Given the description of an element on the screen output the (x, y) to click on. 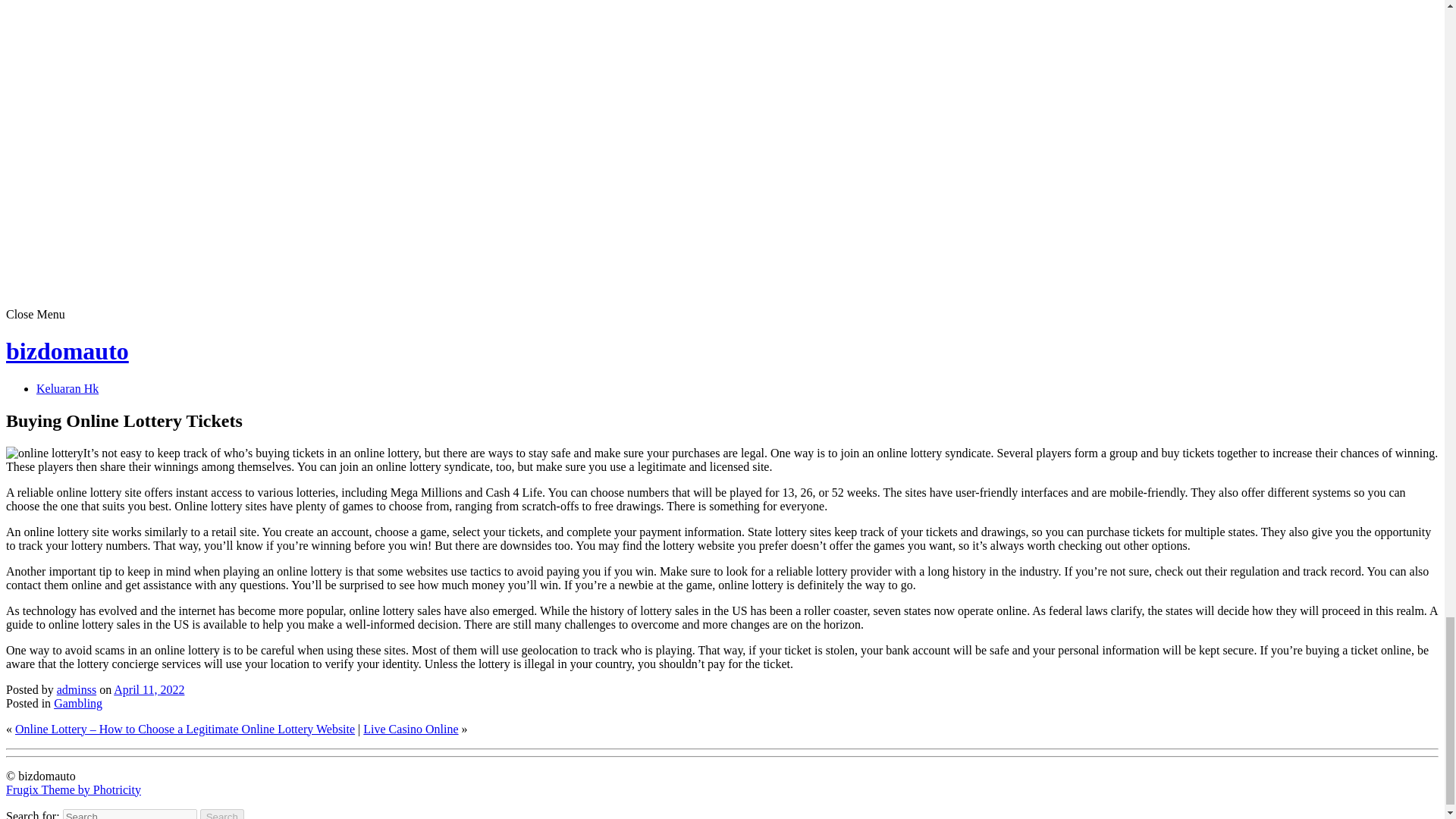
adminss (76, 689)
April 11, 2022 (148, 689)
Gambling (77, 703)
Keluaran Hk (67, 388)
bizdomauto (67, 350)
Frugix Theme by Photricity (73, 789)
Live Casino Online (410, 728)
